Given the description of an element on the screen output the (x, y) to click on. 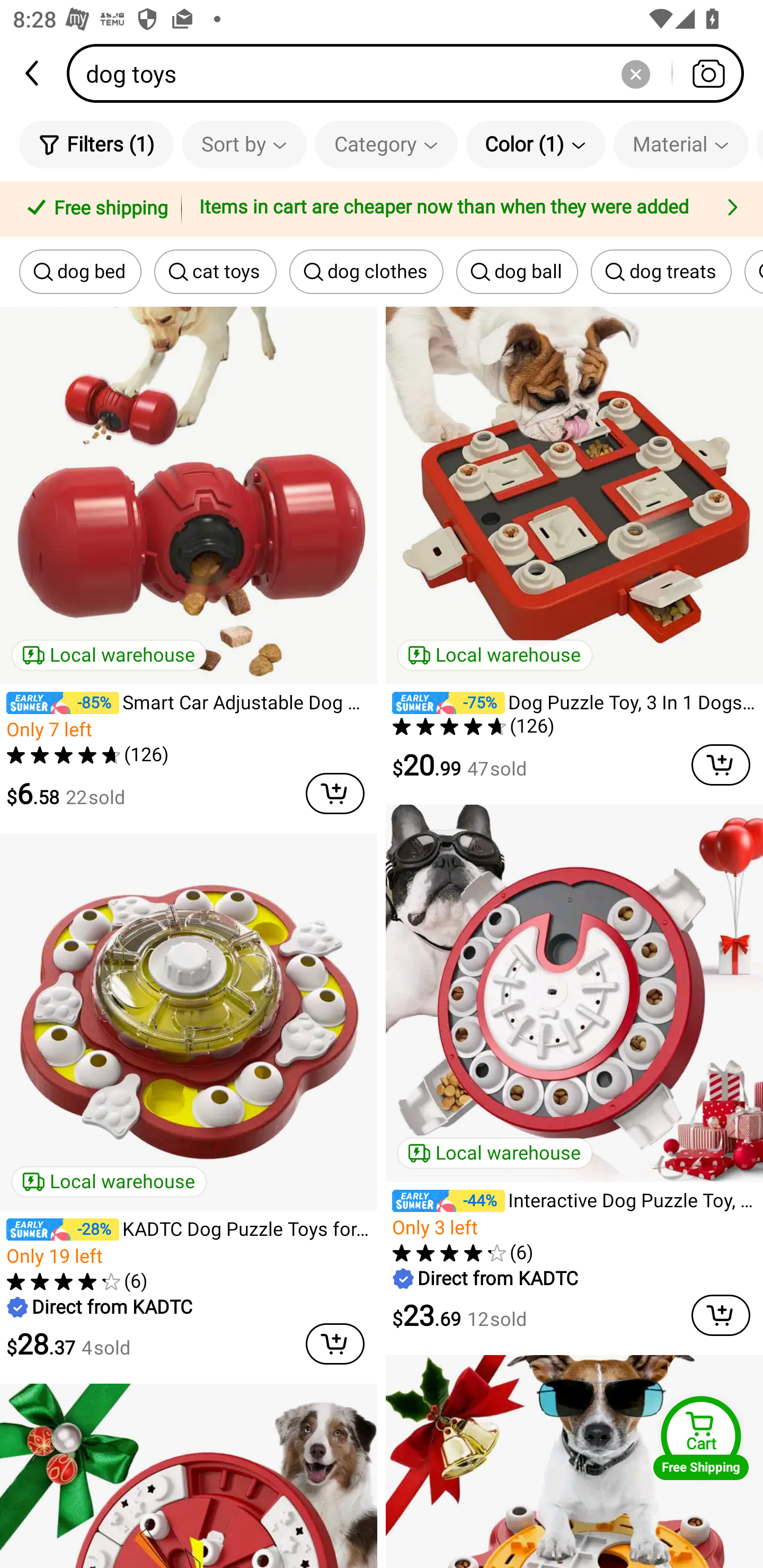
back (33, 72)
dog toys (411, 73)
Delete search history (635, 73)
Search by photo (708, 73)
Filters (1) (96, 143)
Sort by (243, 143)
Category (385, 143)
Color (1) (535, 143)
Material (680, 143)
 Free shipping (93, 208)
dog bed (80, 271)
cat toys (215, 271)
dog clothes (366, 271)
dog ball (517, 271)
dog treats (660, 271)
Cart Free Shipping Cart (701, 1437)
